Given the description of an element on the screen output the (x, y) to click on. 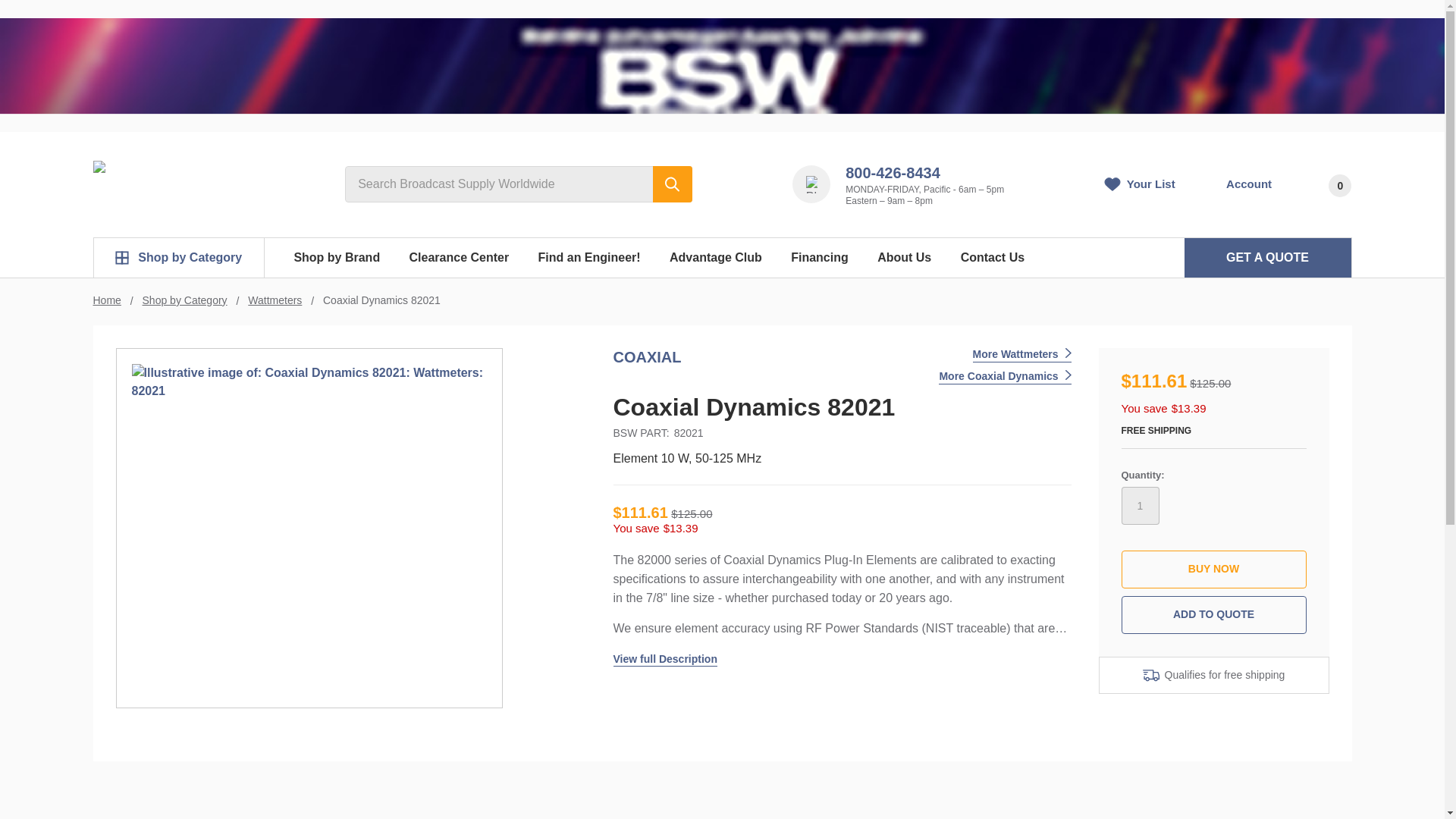
Advantage Club (715, 257)
Buy Now (1213, 569)
0 (1325, 183)
Shop by Category (184, 300)
COAXIAL (646, 356)
Clearance Center (458, 257)
Home (106, 300)
Find an Engineer! (588, 257)
Financing (819, 257)
Your List (1139, 183)
Shop by Category (179, 257)
Broadcast Supply Worldwide (168, 179)
Contact Us (991, 257)
Account (1237, 183)
About Us (903, 257)
